Given the description of an element on the screen output the (x, y) to click on. 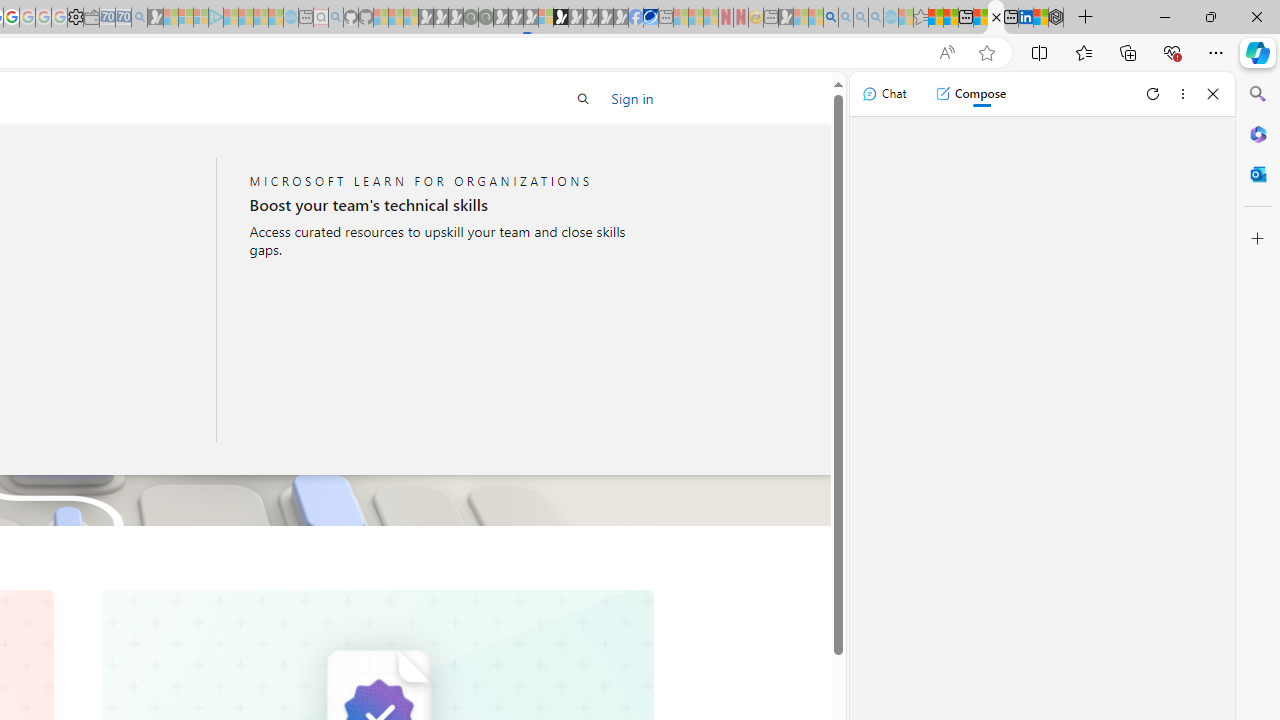
Boost your team's technical skills (443, 205)
